Given the description of an element on the screen output the (x, y) to click on. 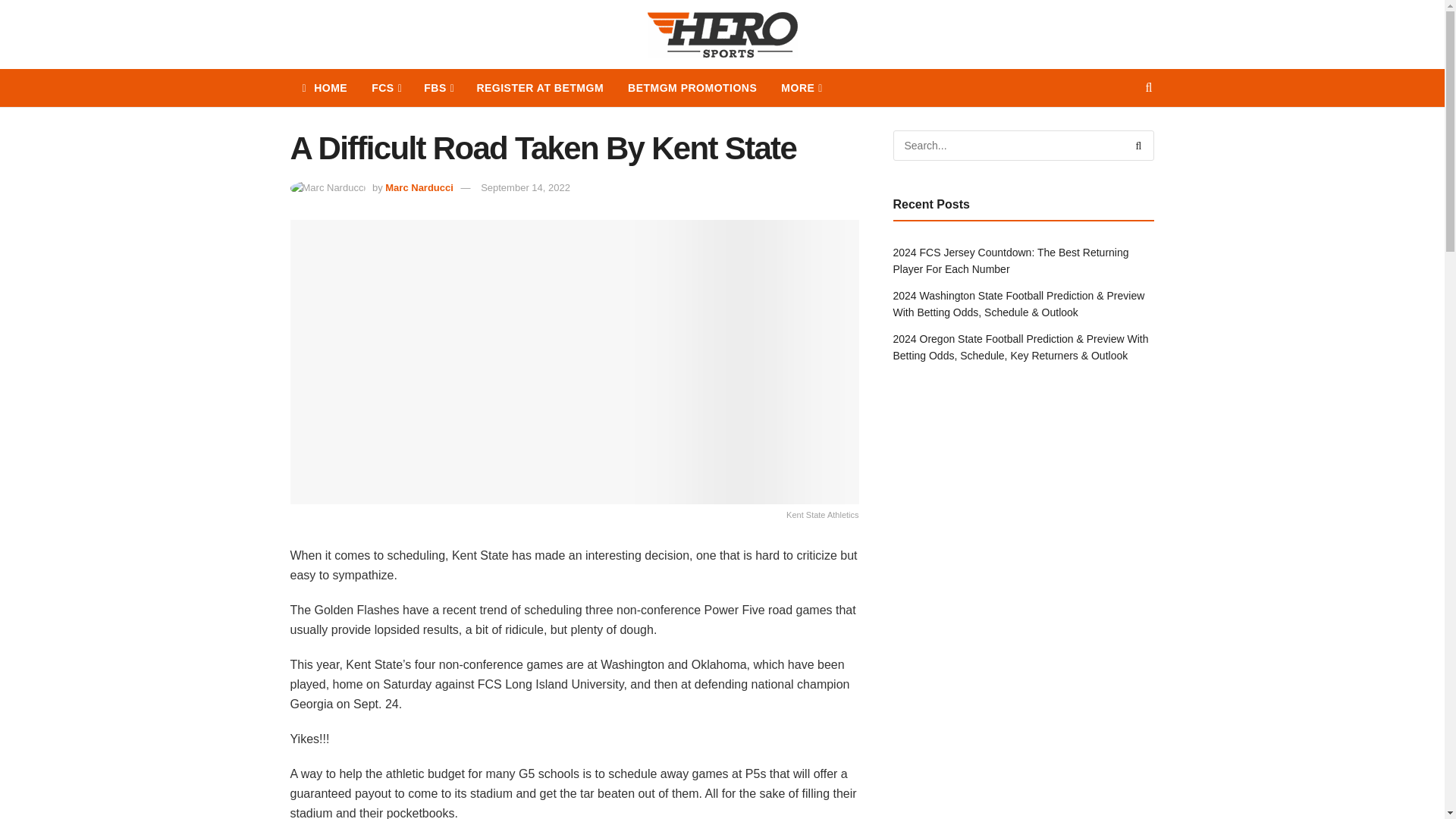
MORE (800, 87)
FCS (385, 87)
BETMGM PROMOTIONS (691, 87)
REGISTER AT BETMGM (539, 87)
HOME (324, 87)
FBS (438, 87)
